Given the description of an element on the screen output the (x, y) to click on. 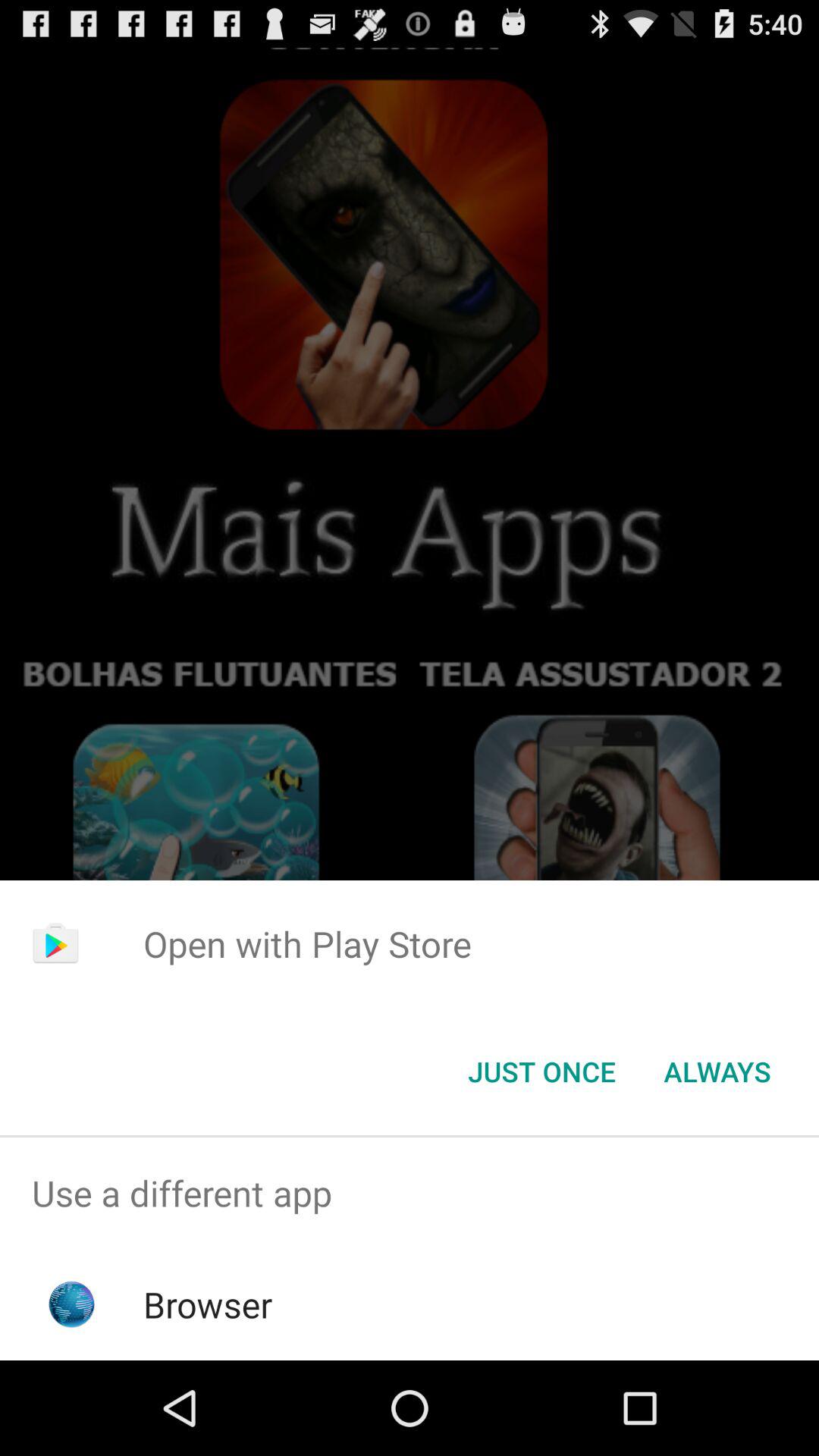
jump until always item (717, 1071)
